Given the description of an element on the screen output the (x, y) to click on. 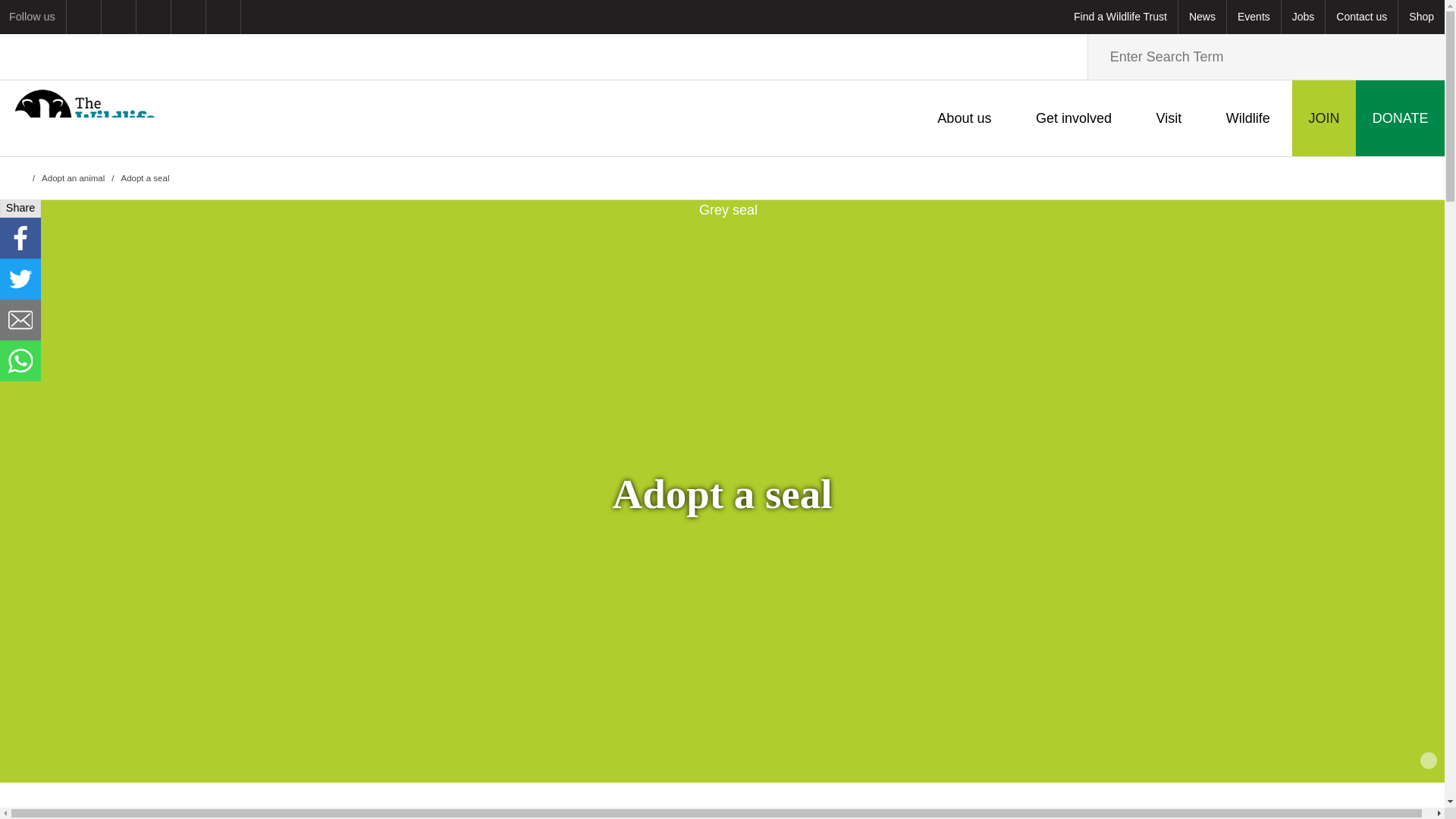
Follow us on Instagram (153, 17)
How to contact The Wildlife Trusts (1360, 16)
Follow us on X (188, 17)
Search (1417, 56)
Get involved (1073, 118)
Follow us on Facebook (118, 17)
Home (84, 118)
Search (1417, 56)
Follow us on YouTube (223, 17)
Find a Wildlife Trust (1119, 16)
